Given the description of an element on the screen output the (x, y) to click on. 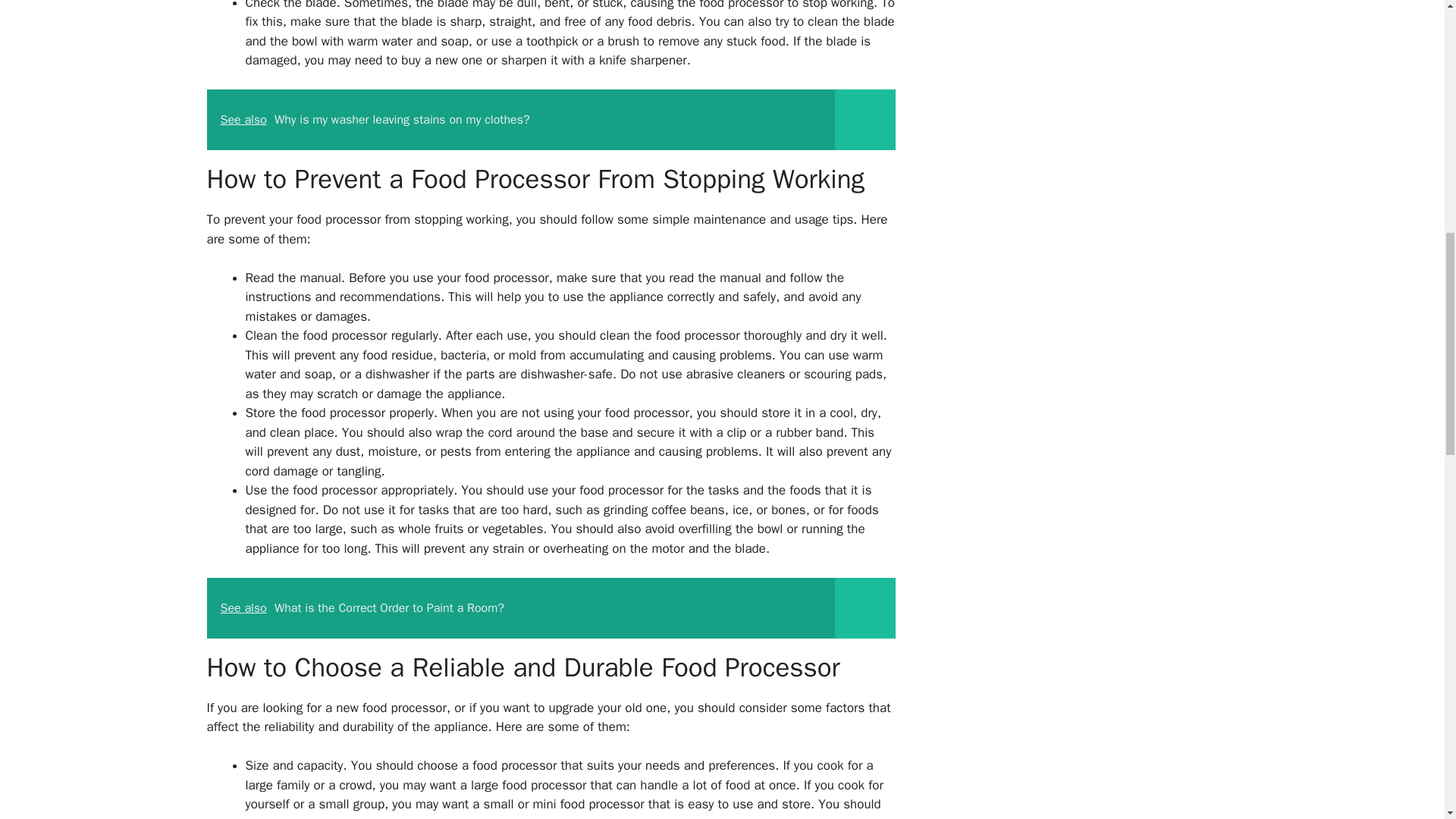
See also  Why is my washer leaving stains on my clothes? (550, 119)
See also  What is the Correct Order to Paint a Room? (550, 608)
